Given the description of an element on the screen output the (x, y) to click on. 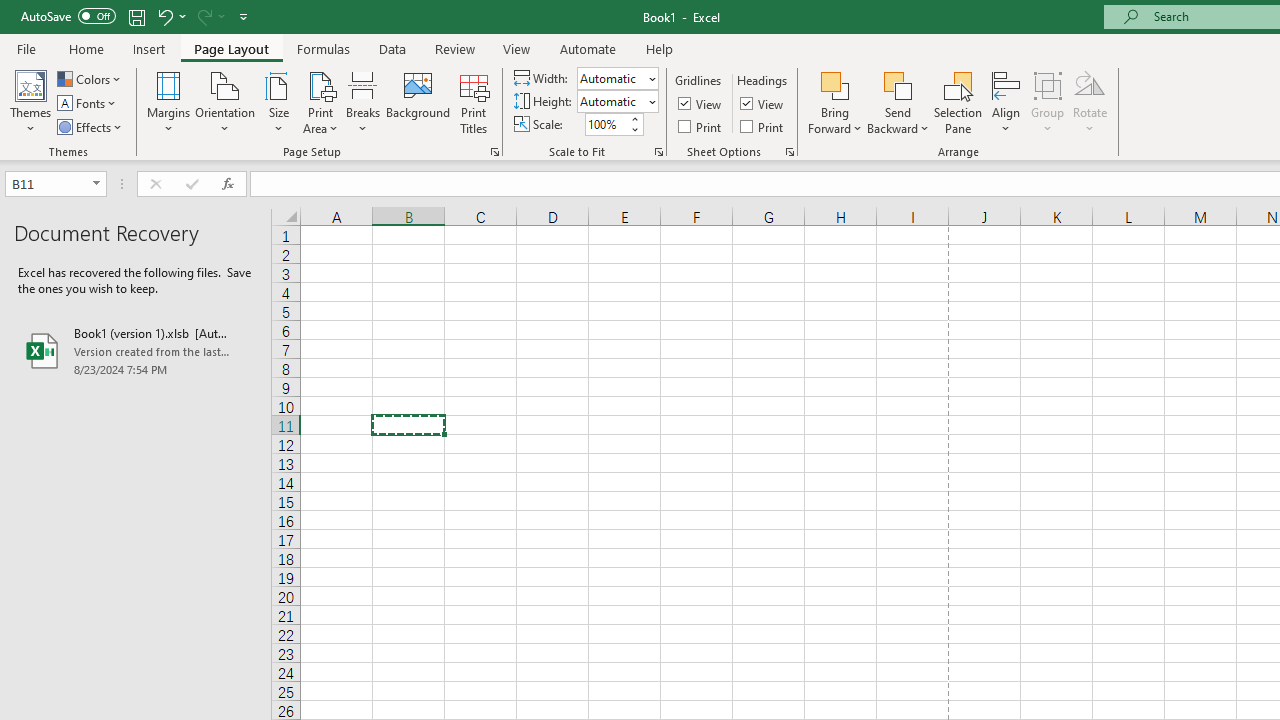
Size (278, 102)
Automate (588, 48)
AutoSave (68, 16)
Rotate (1089, 102)
Print Titles (474, 102)
Width (611, 78)
Align (1005, 102)
Send Backward (898, 84)
